Given the description of an element on the screen output the (x, y) to click on. 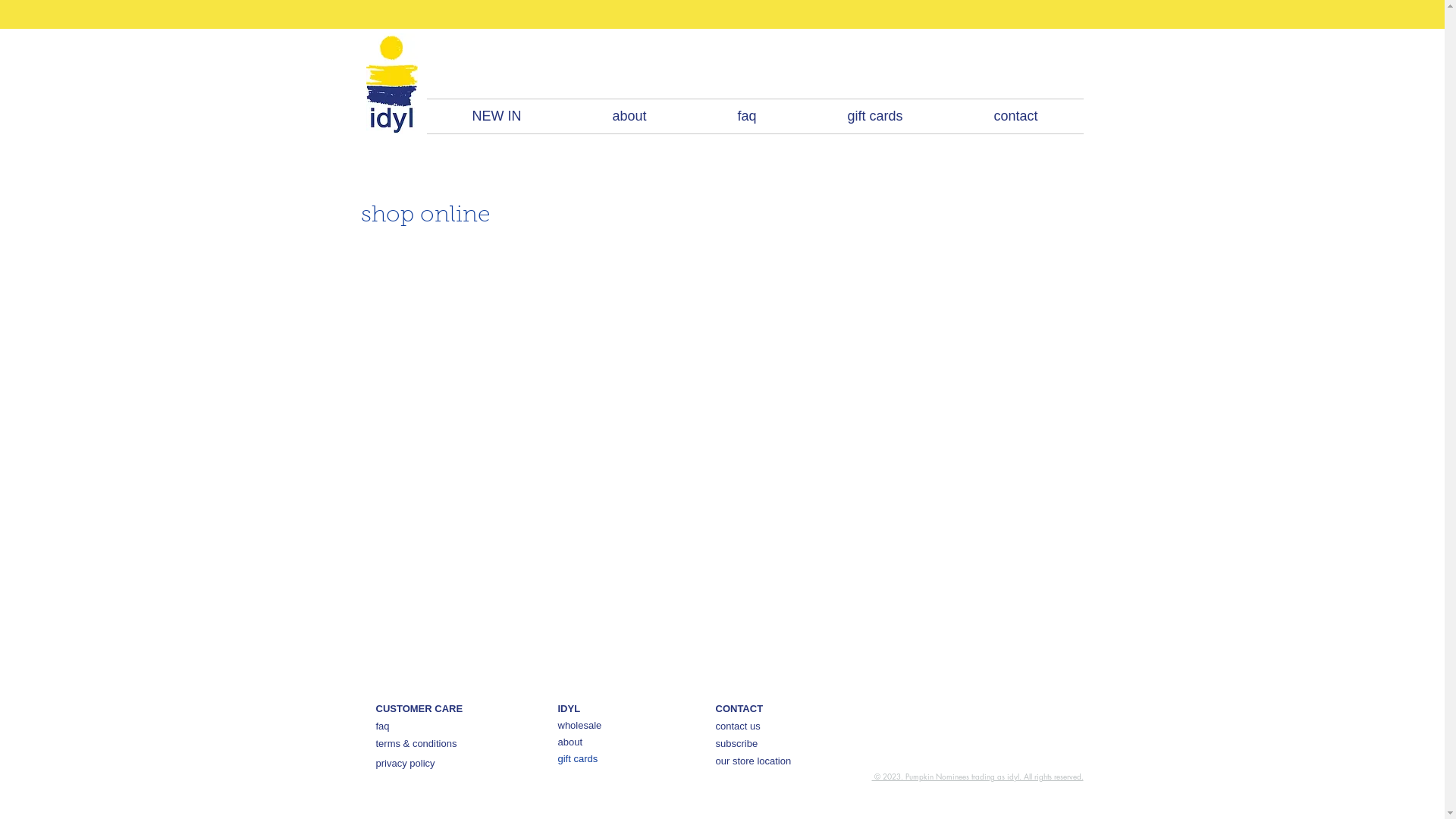
wholesale Element type: text (580, 725)
Online Store Element type: hover (896, 59)
gift cards Element type: text (578, 758)
contact us Element type: text (737, 725)
Online Store Element type: hover (720, 464)
our store location Element type: text (753, 760)
CUSTOMER CARE Element type: text (419, 708)
NEW IN Element type: text (496, 116)
IDYL Element type: text (569, 708)
CONTACT Element type: text (739, 708)
privacy policy Element type: text (405, 762)
subscribe Element type: text (736, 743)
gift cards Element type: text (875, 116)
Idyl Logo.gif Element type: hover (391, 83)
faq Element type: text (746, 116)
faq Element type: text (382, 725)
about Element type: text (570, 741)
terms & conditions Element type: text (416, 743)
about Element type: text (629, 116)
contact Element type: text (1014, 116)
